Given the description of an element on the screen output the (x, y) to click on. 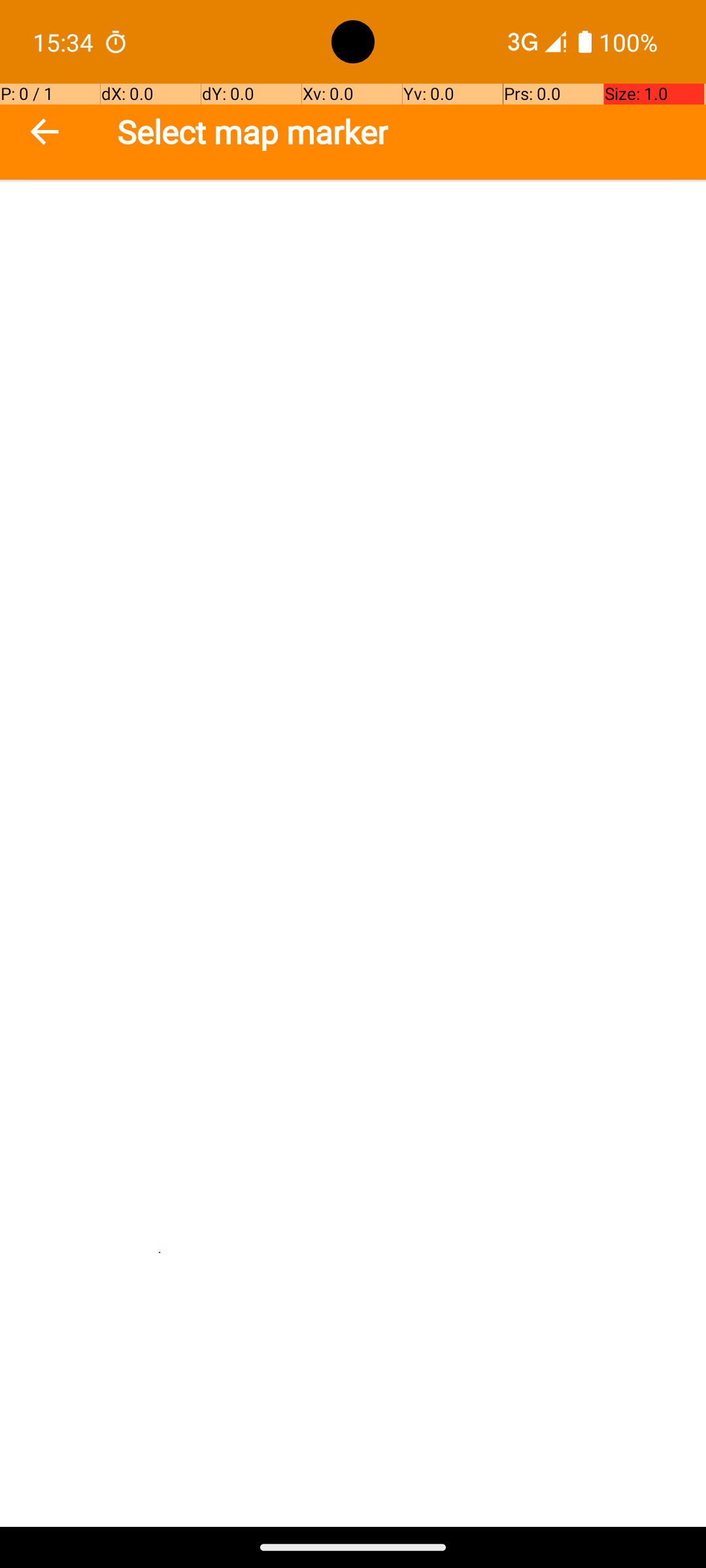
Select map marker Element type: android.widget.TextView (252, 131)
